Given the description of an element on the screen output the (x, y) to click on. 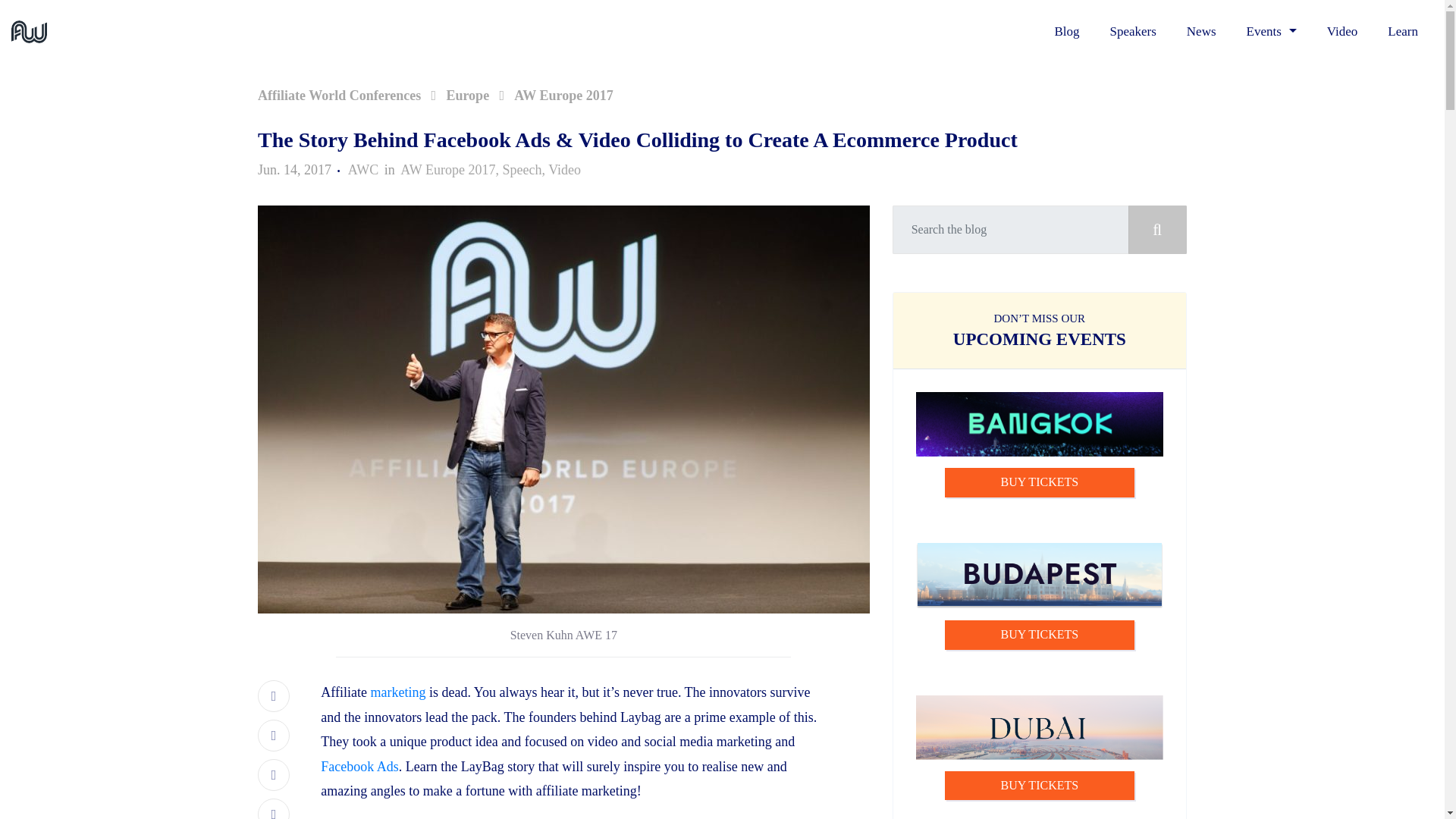
AW Europe 2017 (447, 169)
Events (1271, 32)
Video (1342, 32)
Affiliate World Conferences (338, 95)
AW Europe 2017 (562, 95)
Video (564, 169)
Speakers (1132, 32)
Speech (521, 169)
marketing (397, 692)
News (1201, 32)
Europe (467, 95)
Learn (1402, 32)
Blog (1066, 32)
Blog (1066, 32)
Speakers (1132, 32)
